Given the description of an element on the screen output the (x, y) to click on. 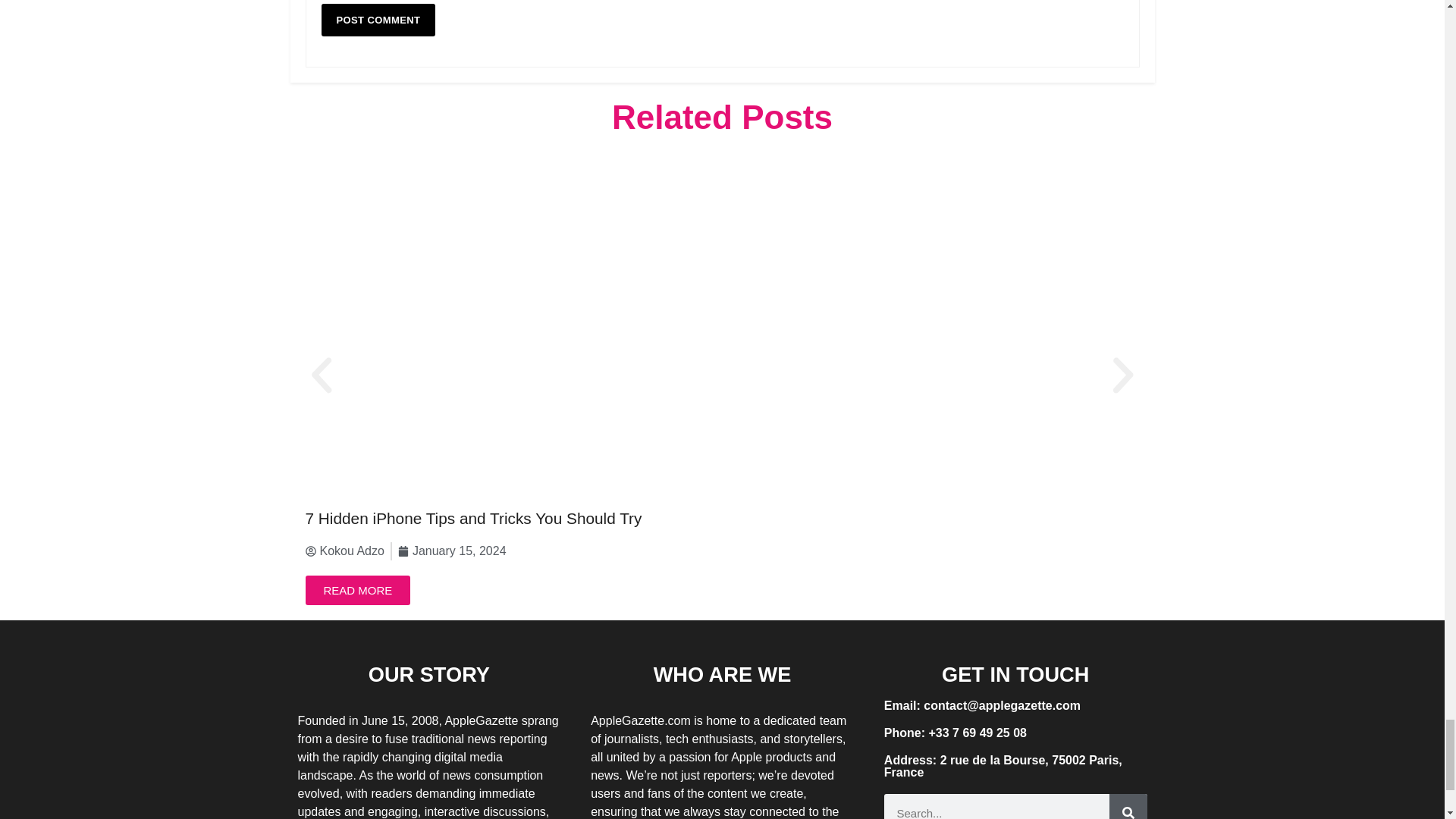
Post Comment (378, 20)
